Given the description of an element on the screen output the (x, y) to click on. 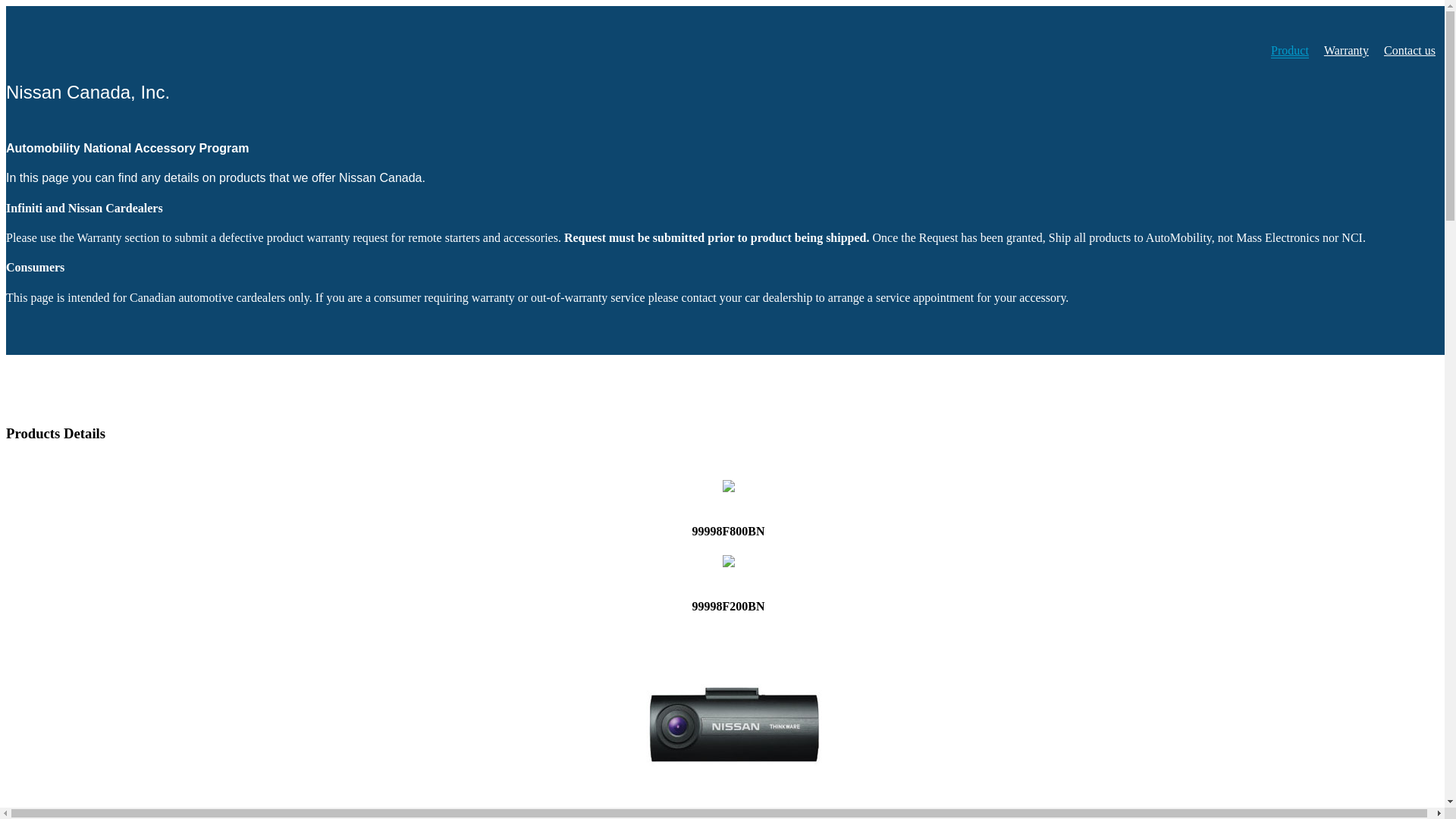
Warranty Element type: text (1346, 50)
Contact us Element type: text (1409, 50)
99998F800BN Element type: text (728, 509)
Product Element type: text (1289, 50)
99998F200BN Element type: text (728, 584)
